Given the description of an element on the screen output the (x, y) to click on. 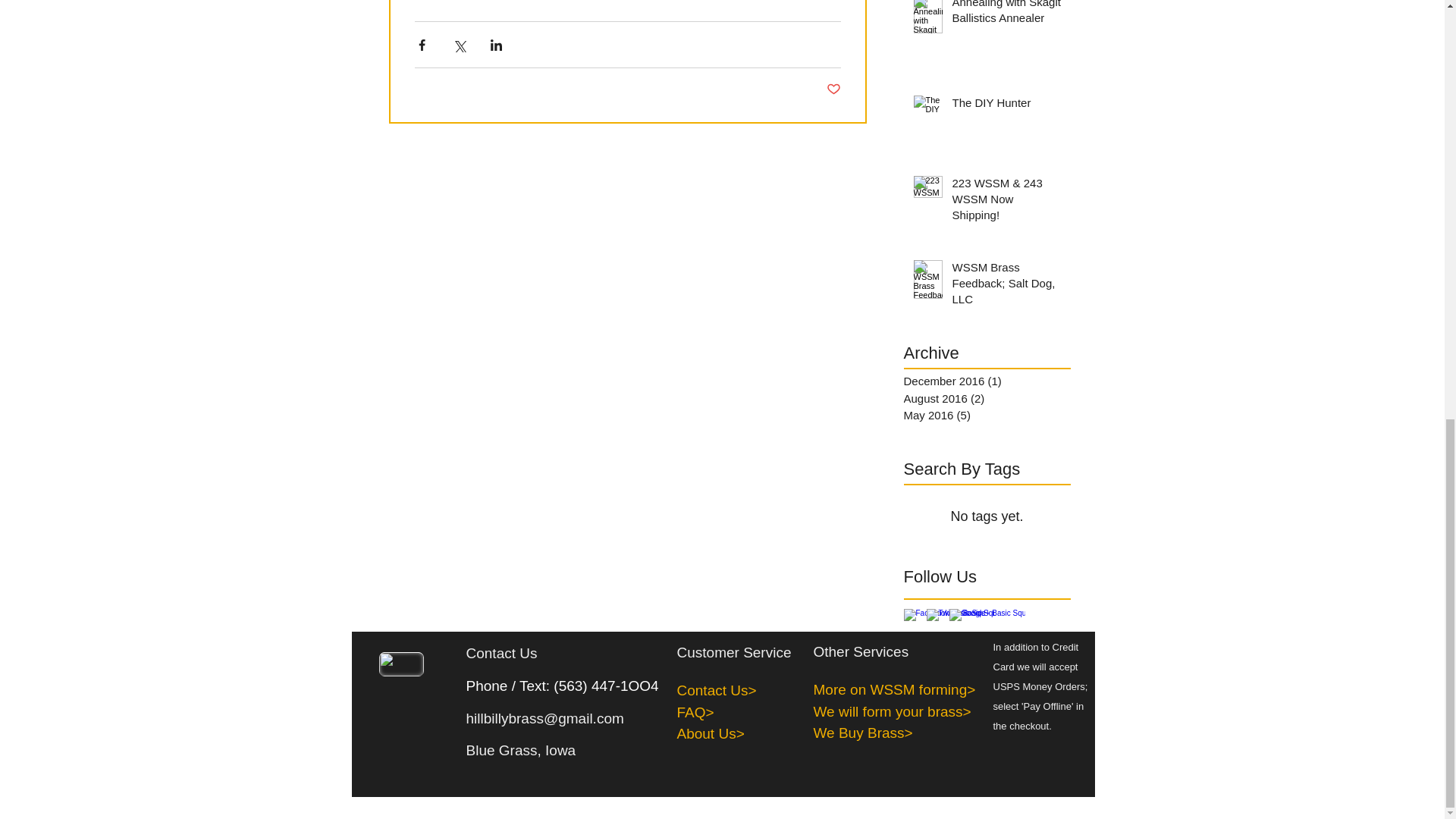
WSSM Brass Feedback; Salt Dog, LLC (1006, 285)
The DIY Hunter (1006, 106)
Annealing with Skagit Ballistics Annealer (1006, 15)
Post not marked as liked (834, 89)
